Given the description of an element on the screen output the (x, y) to click on. 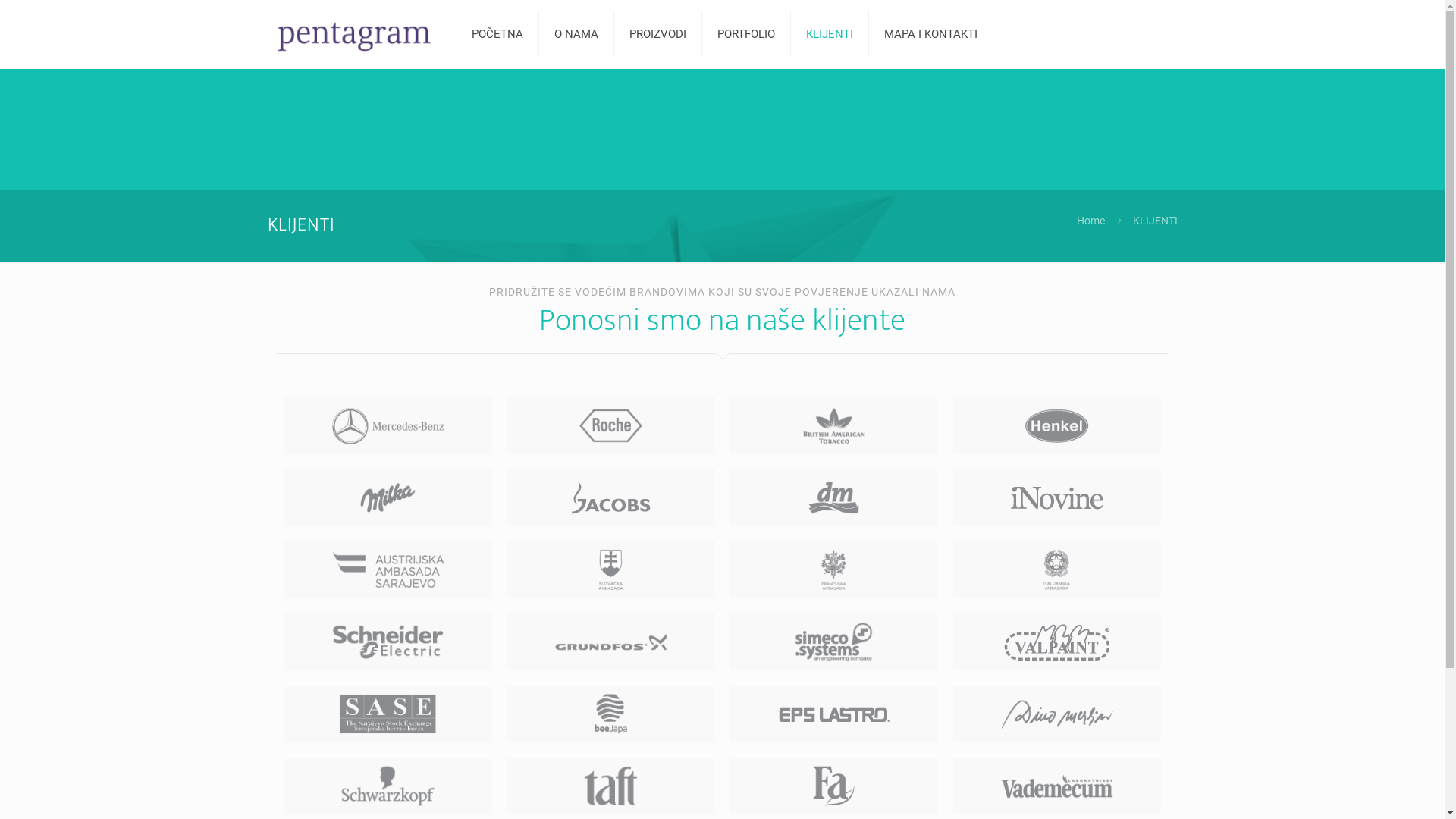
Jacobs Element type: hover (610, 497)
Taft Element type: hover (610, 785)
pentagram Element type: hover (354, 34)
Dino Merlin Element type: hover (1056, 713)
Henkel Element type: hover (1056, 425)
PORTFOLIO Element type: text (746, 34)
Mercedes-Benz Element type: hover (387, 425)
O NAMA Element type: text (576, 34)
PROIZVODI Element type: text (658, 34)
BAT Element type: hover (833, 425)
simeco system Element type: hover (833, 641)
Home Element type: text (1090, 220)
SASE Element type: hover (387, 713)
Milka Element type: hover (387, 497)
Roche Element type: hover (610, 425)
iNovine Element type: hover (1056, 497)
KLIJENTI Element type: text (829, 34)
Fa Element type: hover (833, 785)
Francuska ambasada Element type: hover (833, 569)
Valpaint Element type: hover (1056, 641)
Schwarzkopf Element type: hover (387, 785)
Italijanska ambasada Element type: hover (1056, 569)
EPS LASTRO Element type: hover (833, 713)
Grundfos Element type: hover (610, 641)
Schneider electric Element type: hover (387, 641)
Austrijska ambasada Sarajevo Element type: hover (387, 569)
beeJapa Element type: hover (610, 713)
dm Element type: hover (833, 497)
MAPA I KONTAKTI Element type: text (930, 34)
